Given the description of an element on the screen output the (x, y) to click on. 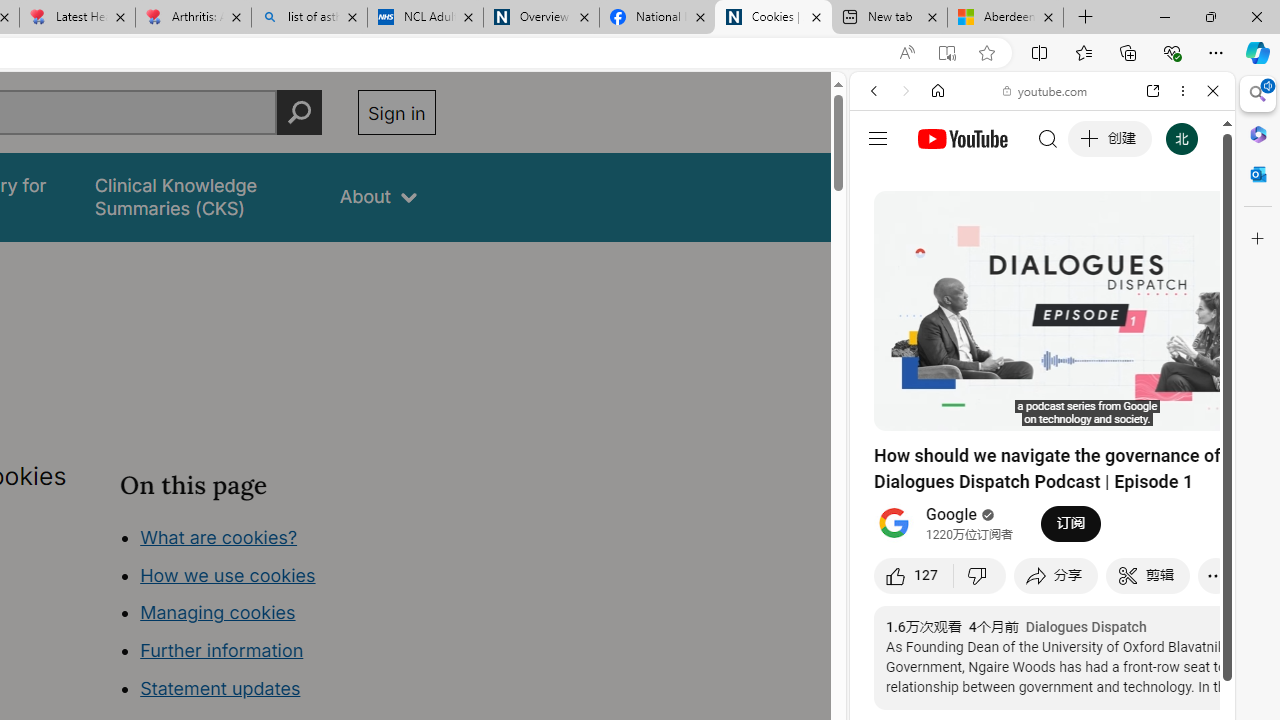
Aberdeen, Hong Kong SAR hourly forecast | Microsoft Weather (1005, 17)
